Given the description of an element on the screen output the (x, y) to click on. 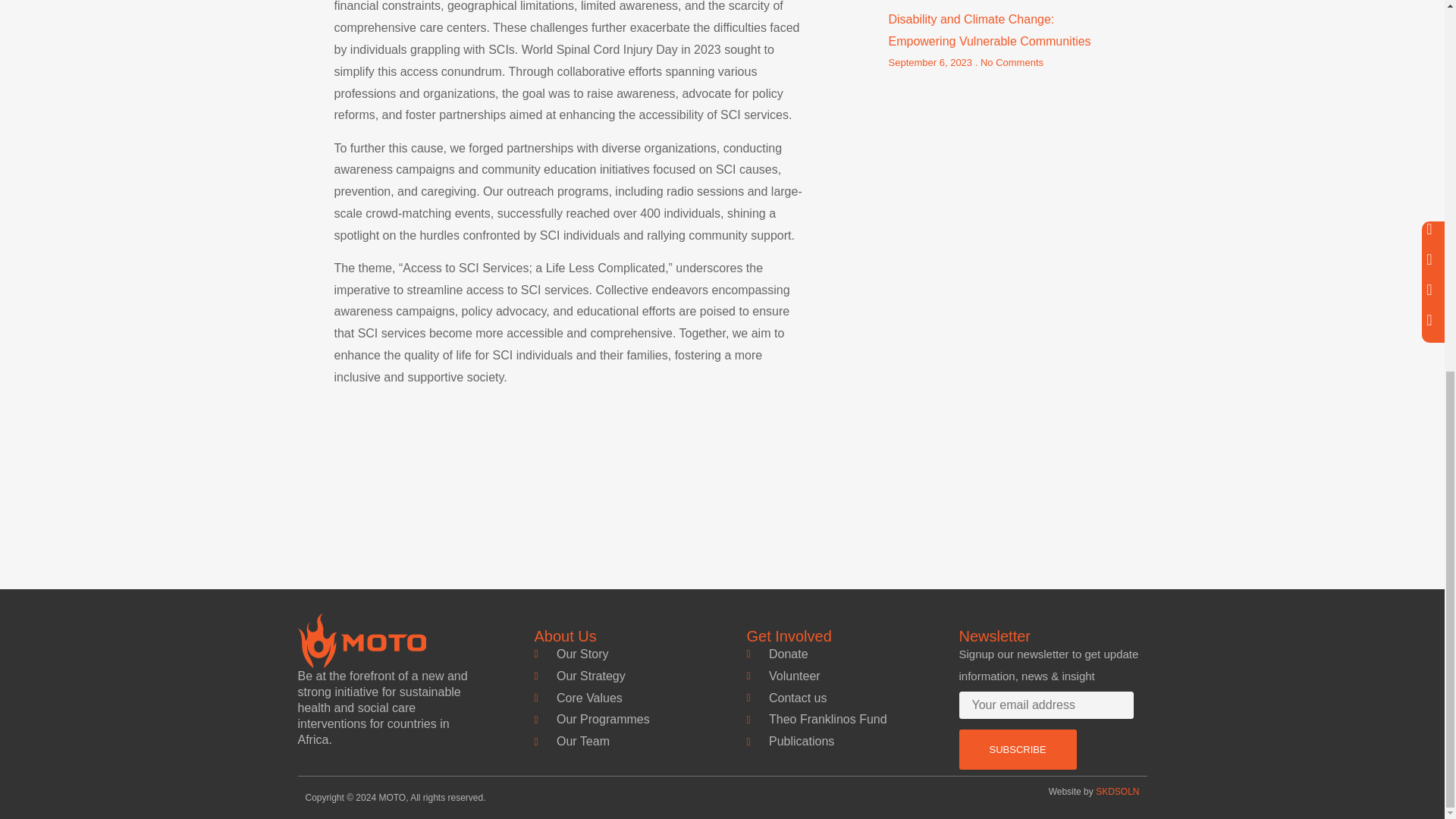
MOTO LOGO (361, 640)
Subscribe (1016, 749)
